Given the description of an element on the screen output the (x, y) to click on. 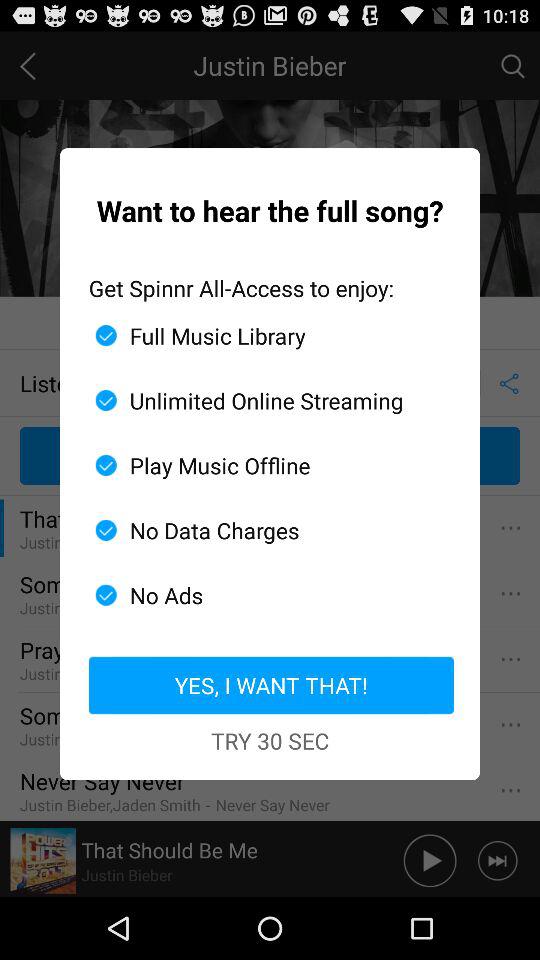
choose the item below unlimited online streaming app (261, 465)
